Given the description of an element on the screen output the (x, y) to click on. 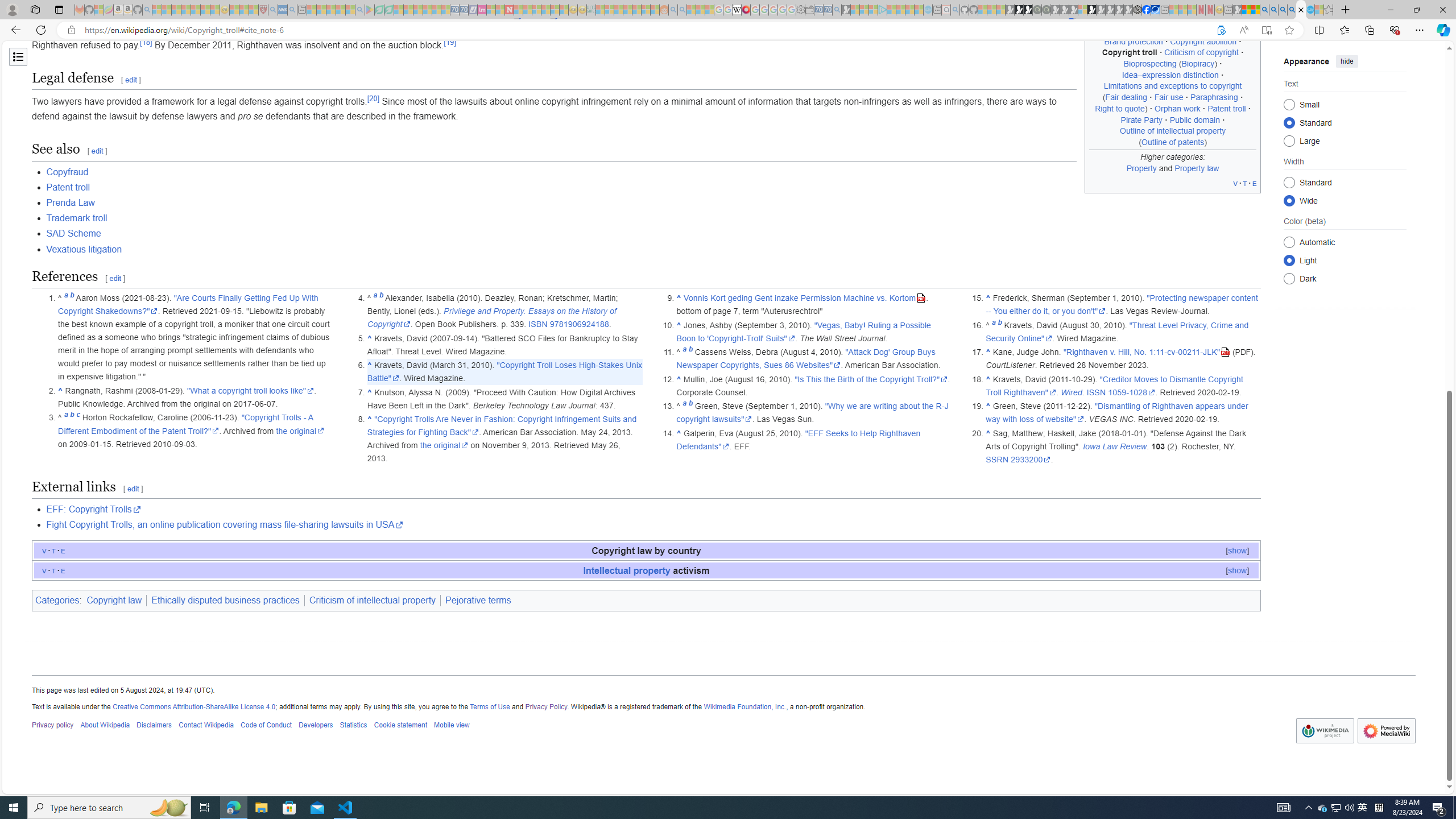
Dark (1289, 278)
Nordace - Cooler Bags (1137, 9)
Pejorative terms (478, 600)
SAD Scheme (653, 233)
Mobile view (451, 725)
Patent troll (653, 186)
Class: mw-list-item mw-list-item-js (1345, 259)
